Given the description of an element on the screen output the (x, y) to click on. 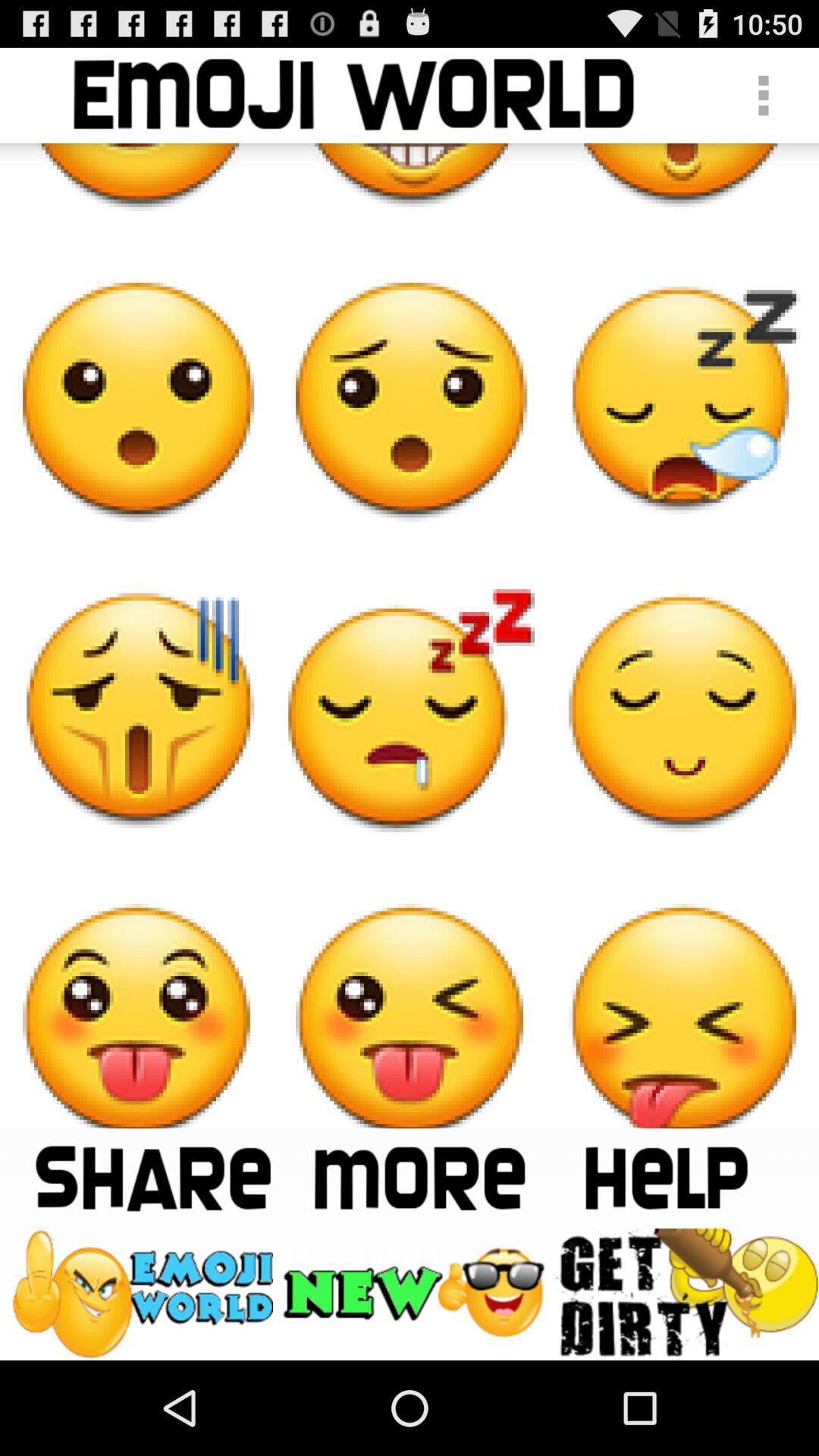
help menu (665, 1177)
